Given the description of an element on the screen output the (x, y) to click on. 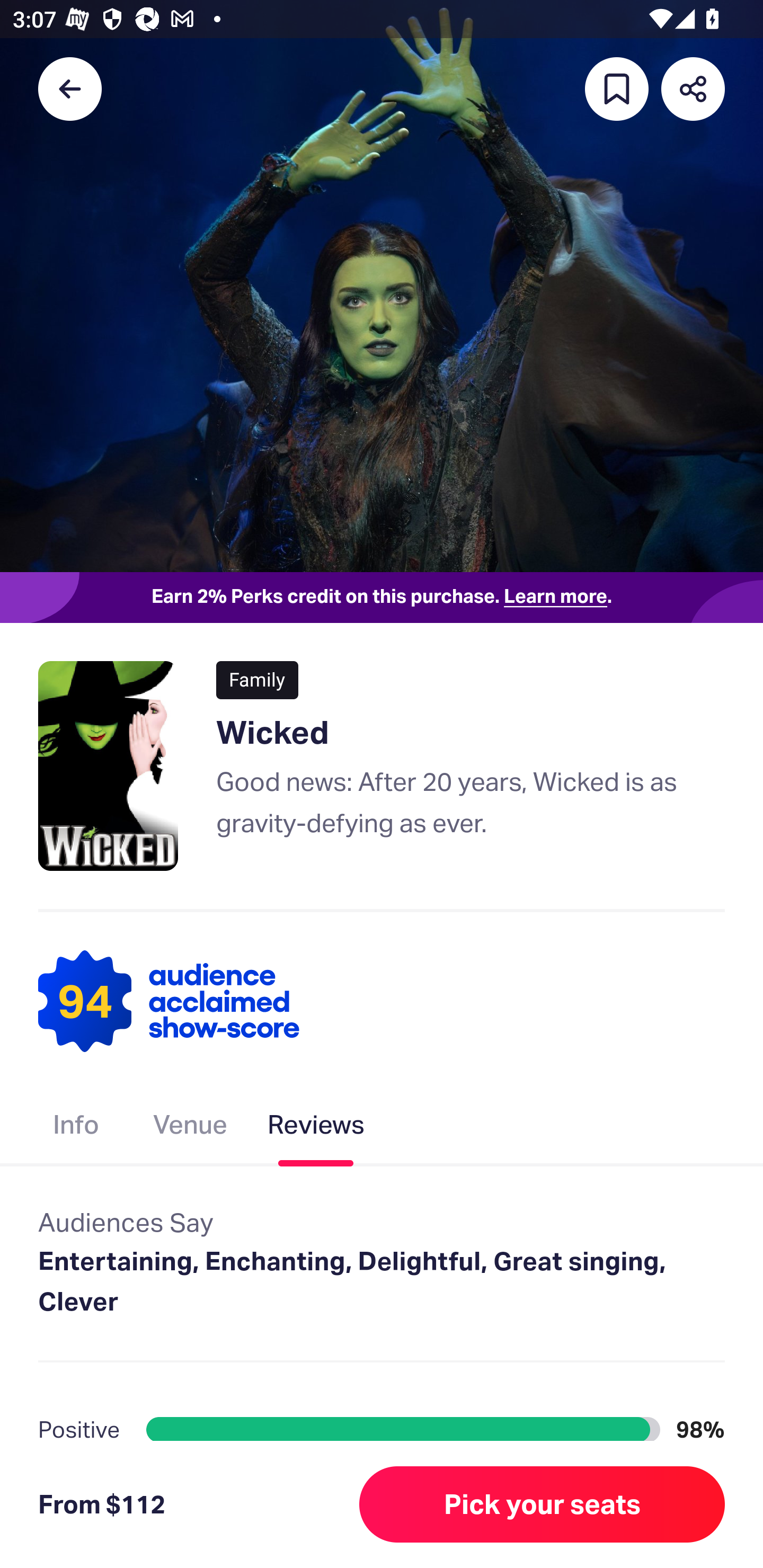
Earn 2% Perks credit on this purchase. Learn more. (381, 597)
Info (76, 1127)
Venue (190, 1127)
Pick your seats (541, 1504)
